Given the description of an element on the screen output the (x, y) to click on. 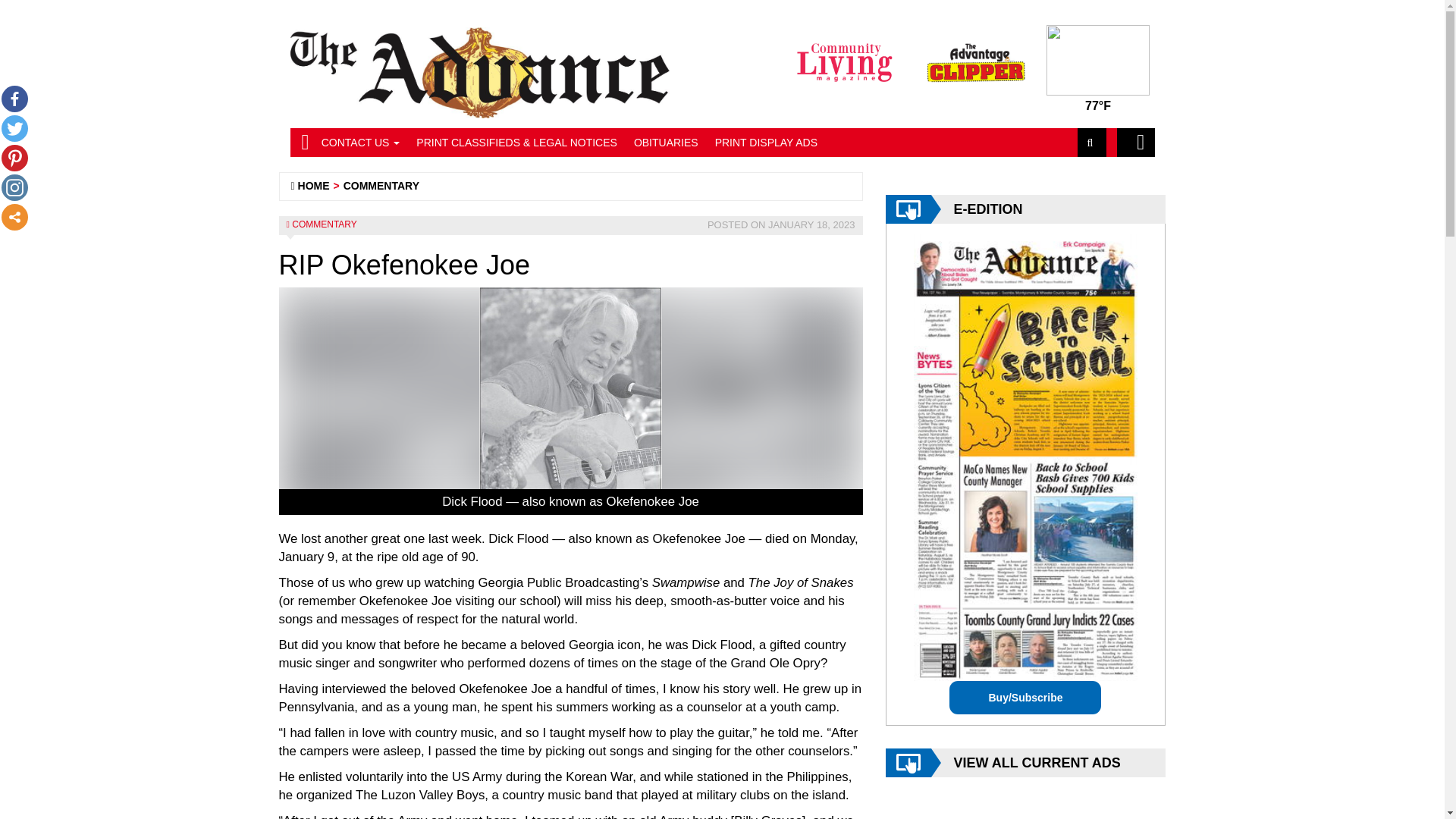
The Advance News (314, 185)
HOME (314, 185)
PRINT DISPLAY ADS (765, 142)
CONTACT US (361, 142)
RIP Okefenokee Joe (571, 401)
ALL SECTIONS (1135, 142)
Contact Us (361, 142)
Twitter (14, 128)
OBITUARIES (666, 142)
Facebook (14, 98)
COMMENTARY (324, 224)
Print Display Ads (765, 142)
COMMENTARY (381, 185)
OBITUARIES (666, 142)
